Given the description of an element on the screen output the (x, y) to click on. 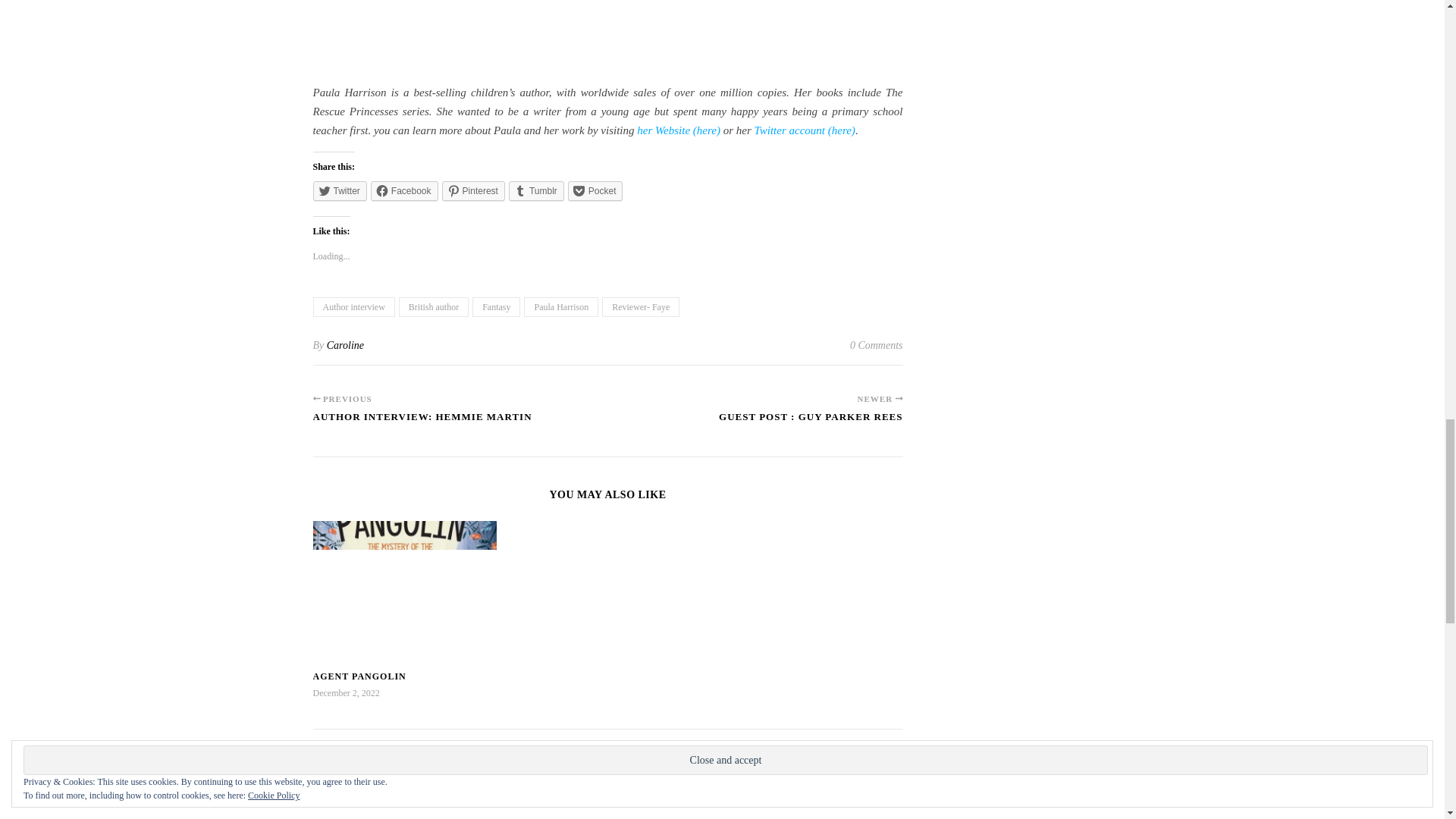
Posts by Caroline (345, 345)
British author (433, 306)
Click to share on Twitter (339, 190)
Click to share on Tumblr (536, 190)
Guest Post : Guy Parker Rees (810, 423)
Pinterest (473, 190)
Facebook (404, 190)
Comment Form (607, 814)
Twitter (339, 190)
Paula Harrison (561, 306)
